Given the description of an element on the screen output the (x, y) to click on. 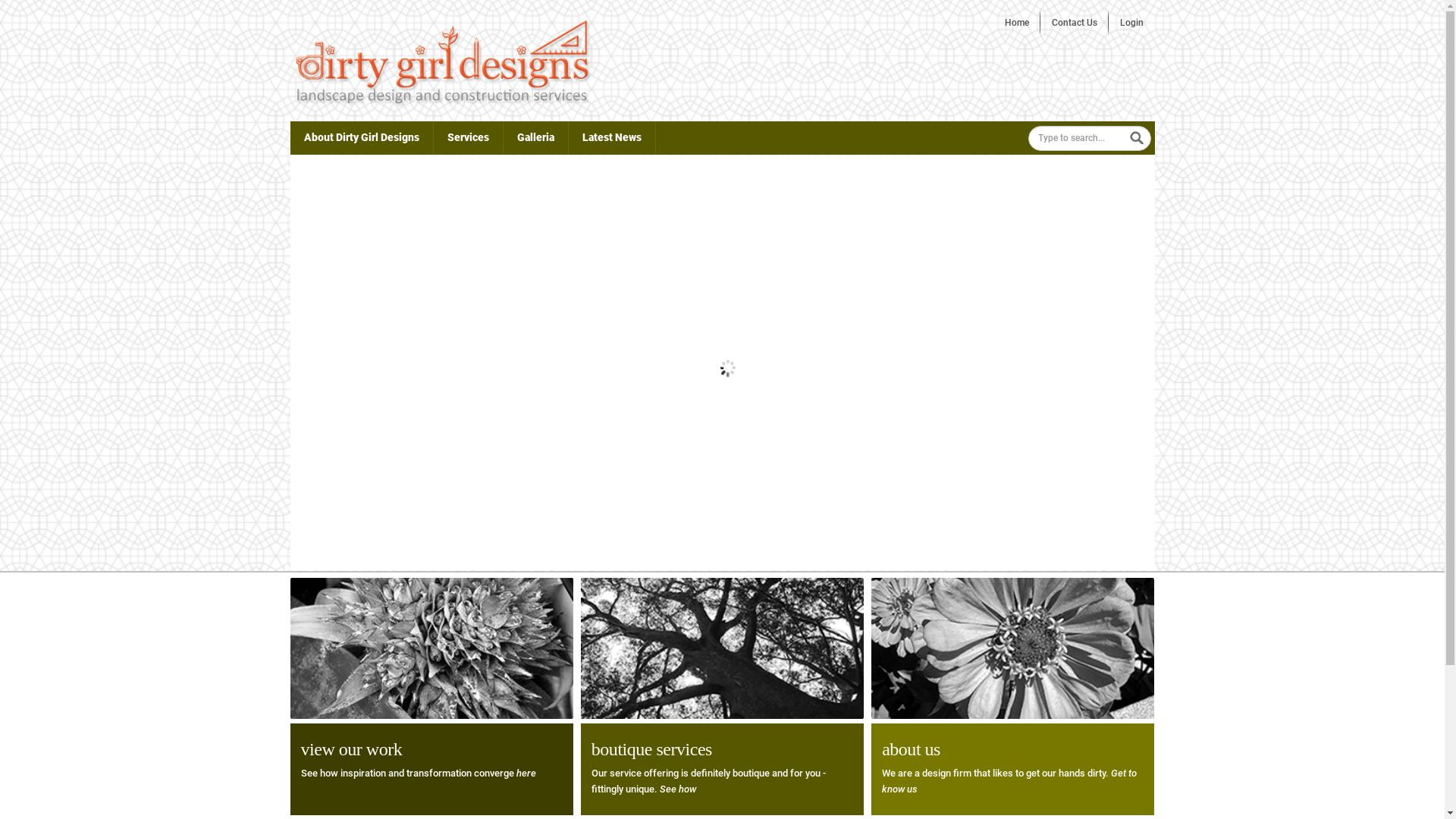
boutique services Element type: text (651, 749)
Login Element type: text (1131, 22)
See how inspiration and transformation converge here Element type: text (417, 772)
Contact Us Element type: text (1074, 22)
Latest News Element type: text (611, 137)
view our work Element type: text (350, 749)
Galleria Element type: text (535, 137)
Services Element type: text (467, 137)
Home Element type: text (1016, 22)
About Dirty Girl Designs Element type: text (360, 137)
about us Element type: text (910, 749)
